Given the description of an element on the screen output the (x, y) to click on. 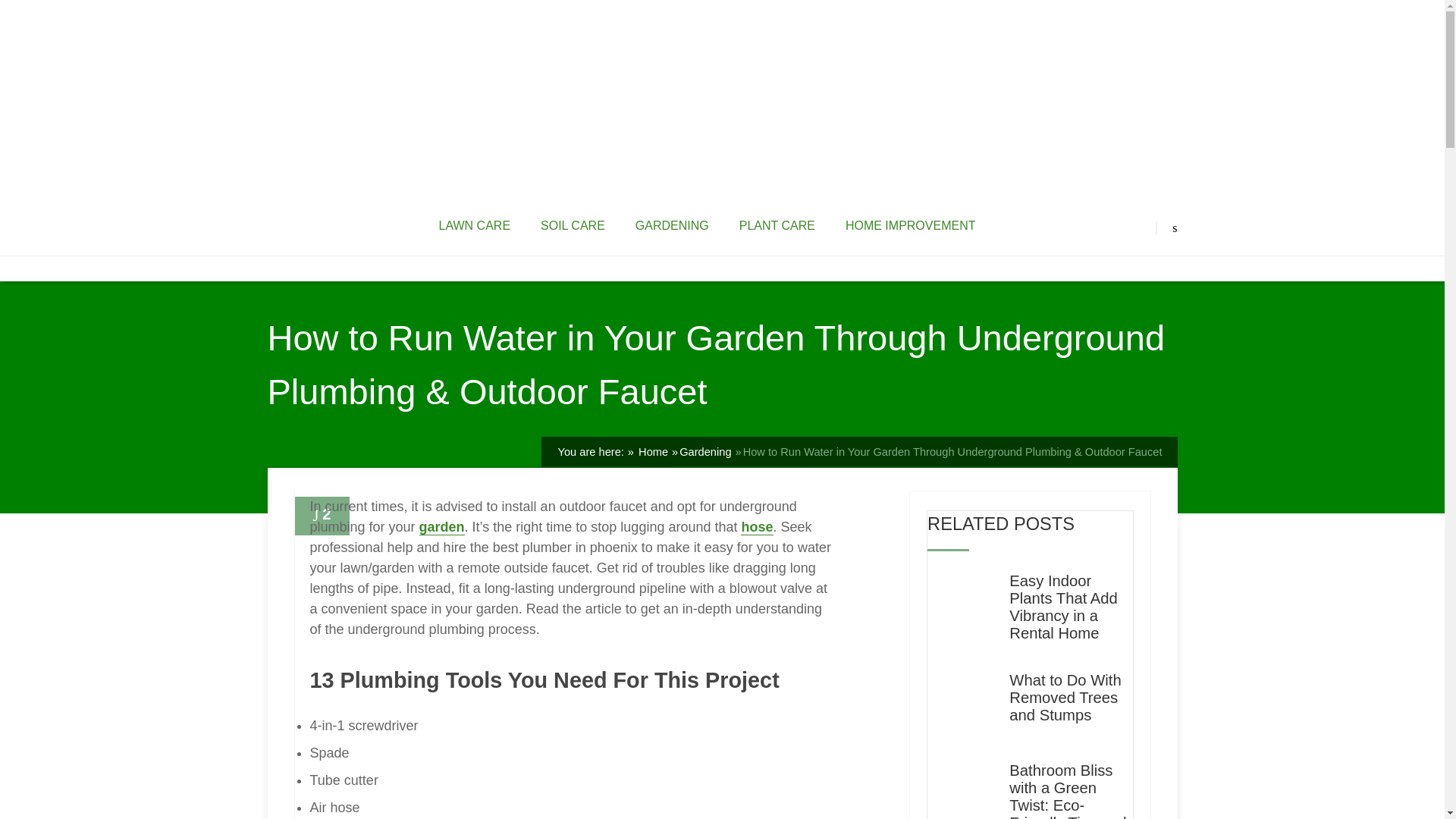
Home (651, 451)
SOIL CARE (572, 225)
hose (757, 527)
HOME IMPROVEMENT (910, 225)
GARDENING (671, 225)
What to Do With Removed Trees and Stumps (1070, 697)
Gardening (704, 451)
Easy Indoor Plants That Add Vibrancy in a Rental Home (1070, 607)
2 (321, 516)
PLANT CARE (777, 225)
LAWN CARE (475, 225)
garden (441, 527)
